Given the description of an element on the screen output the (x, y) to click on. 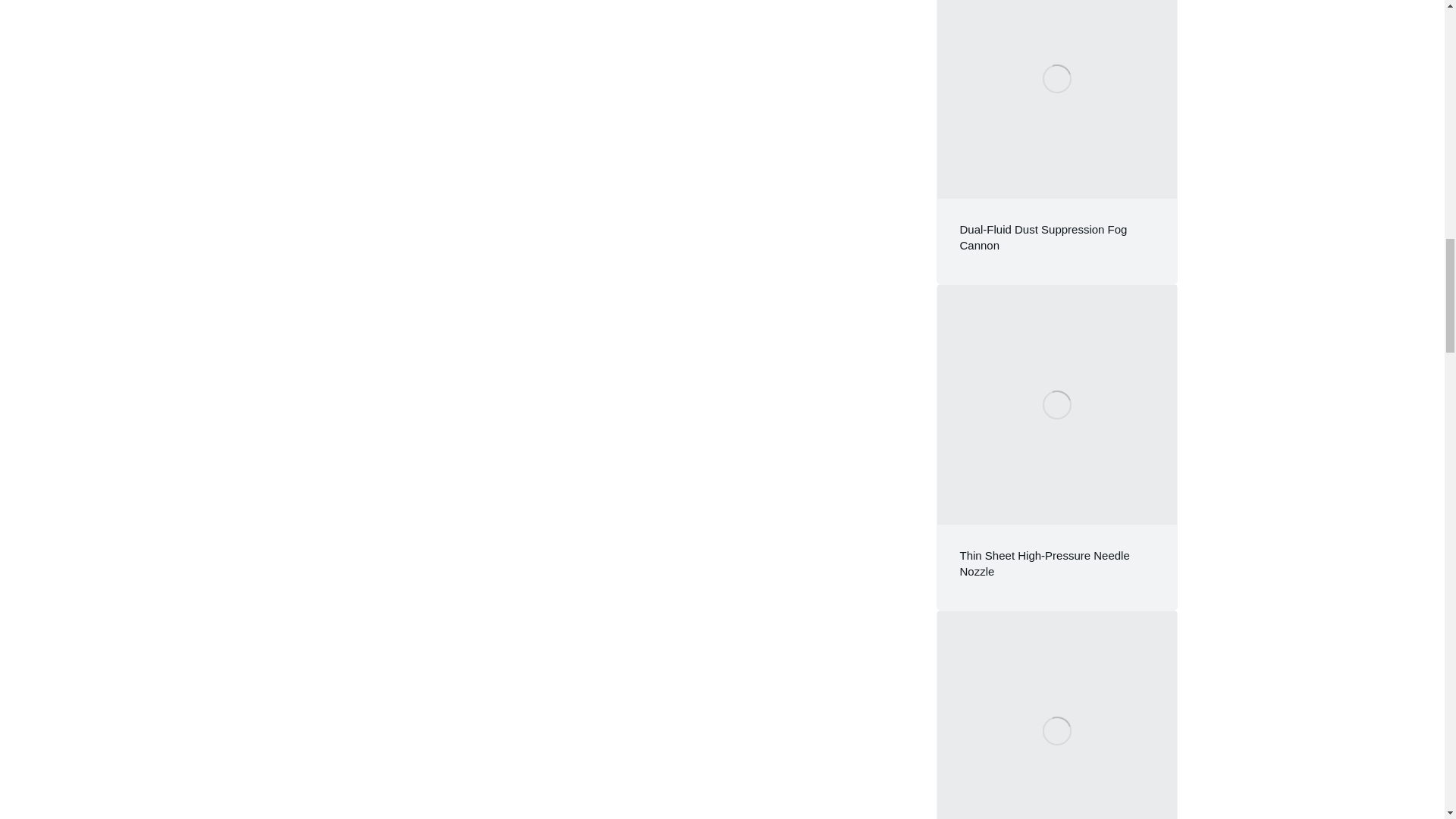
Thin Sheet High-Pressure Needle Nozzle (1044, 563)
Dual-Fluid Dust Suppression Fog Cannon (1042, 236)
